Given the description of an element on the screen output the (x, y) to click on. 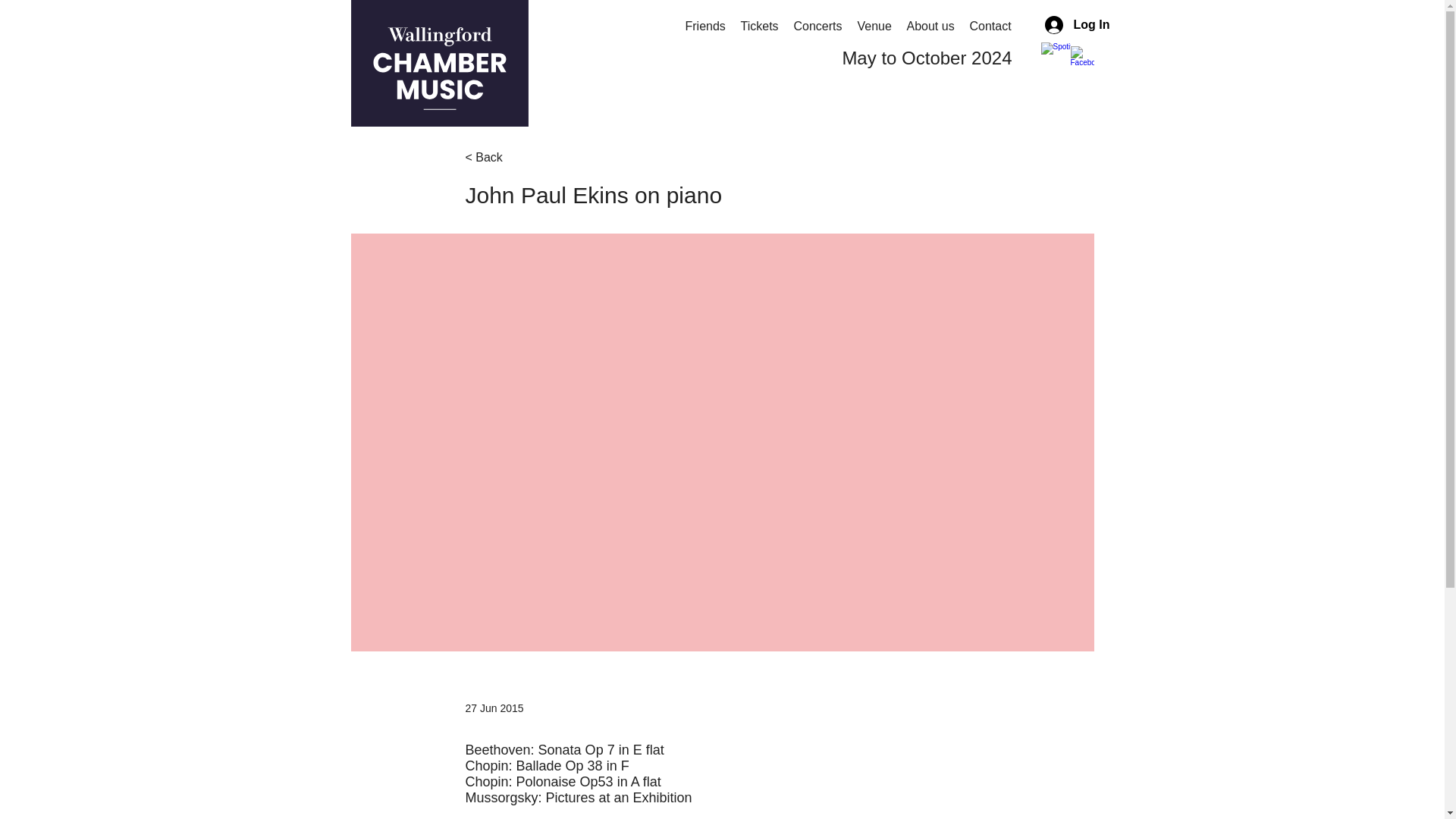
Log In (1063, 24)
About us (930, 26)
Venue (873, 26)
Friends (705, 26)
Tickets (759, 26)
Contact (988, 26)
Concerts (817, 26)
